Given the description of an element on the screen output the (x, y) to click on. 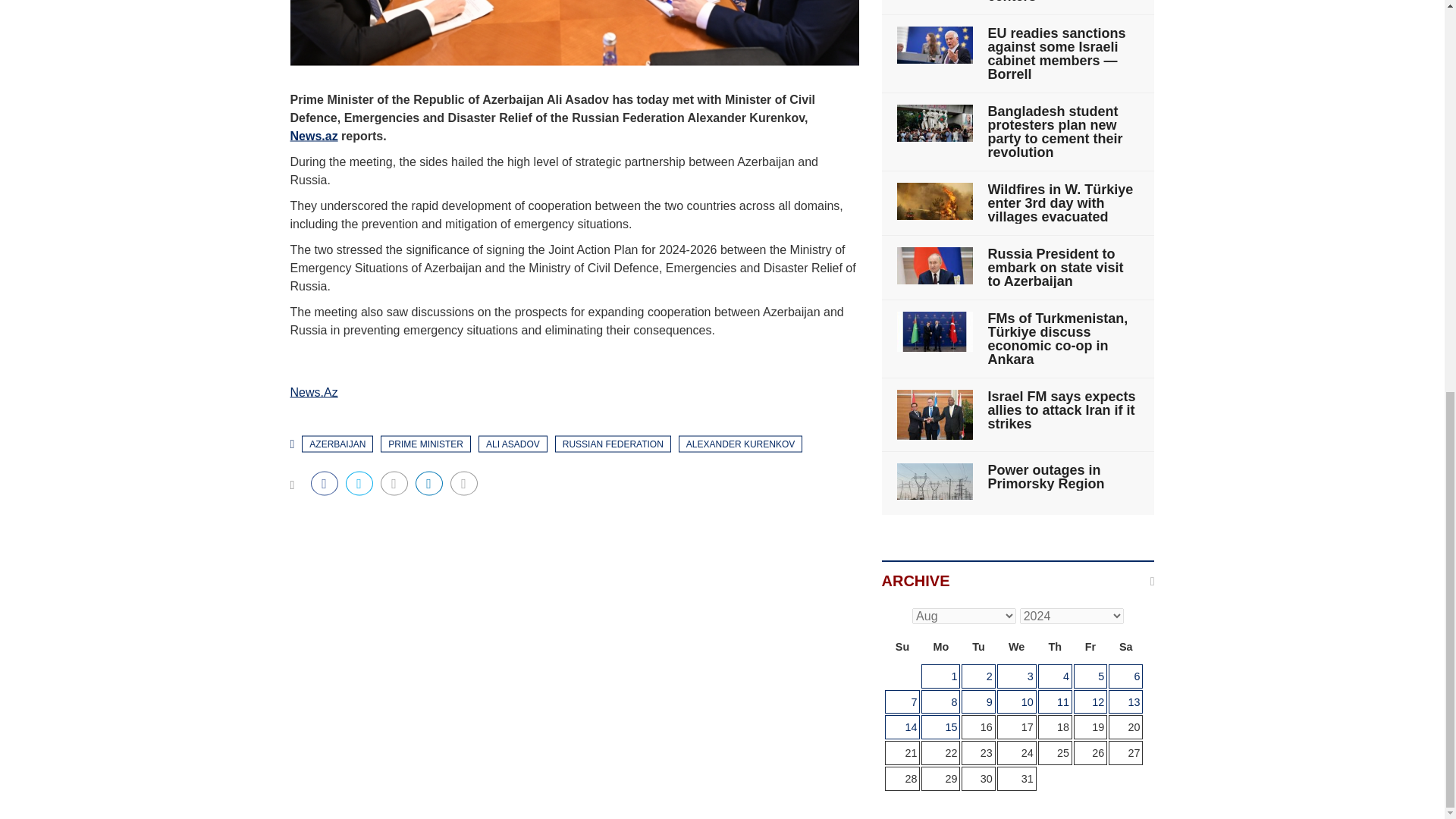
AZERBAIJAN (336, 443)
RUSSIAN FEDERATION (612, 443)
News.Az (313, 391)
News.az (313, 134)
Share news on Twitter (359, 482)
ALI ASADOV (513, 443)
Share news on Facebook (324, 482)
ALEXANDER KURENKOV (740, 443)
PRIME MINISTER (425, 443)
